Given the description of an element on the screen output the (x, y) to click on. 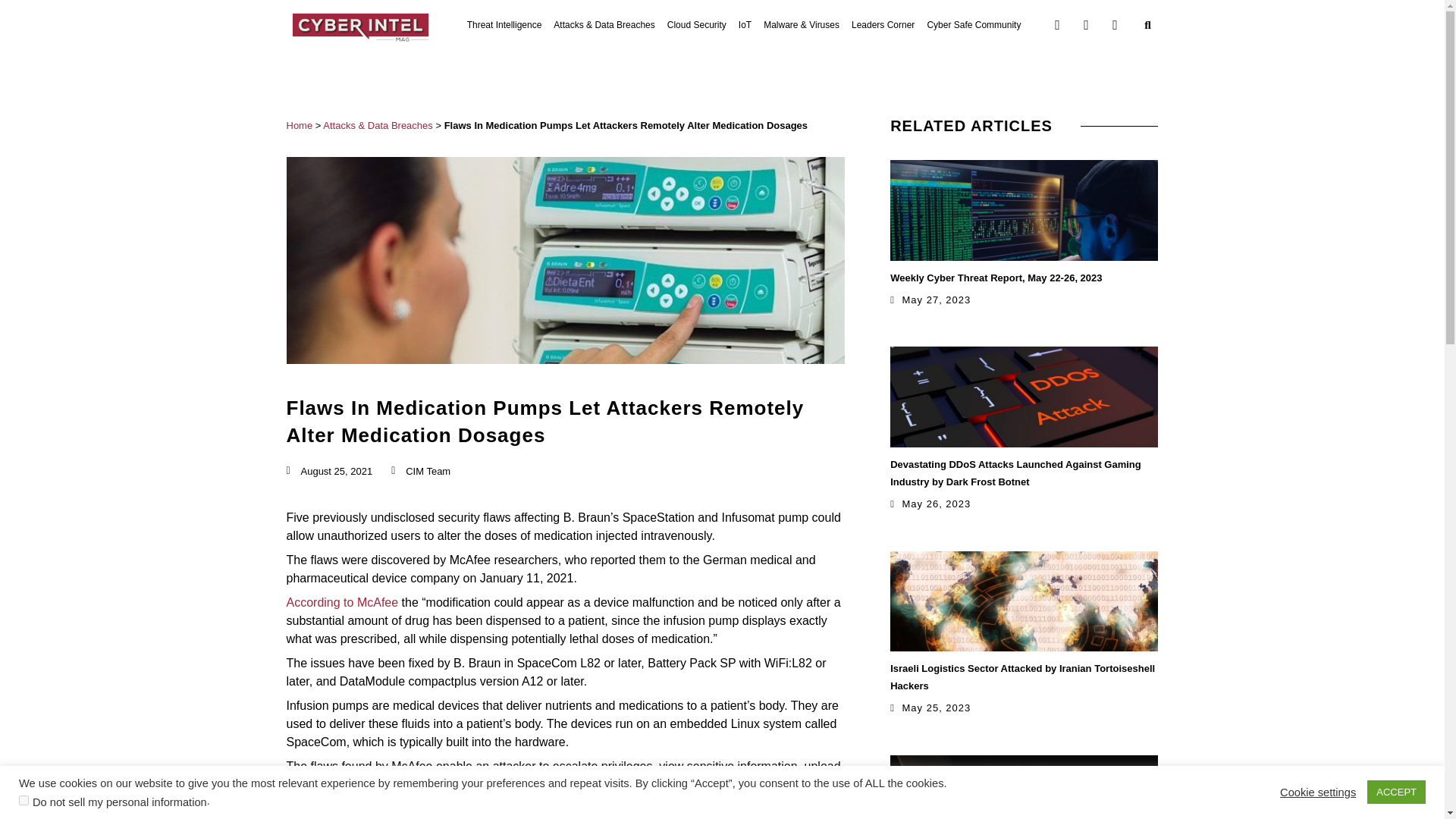
Threat Intelligence (504, 24)
Home (299, 125)
Cyber Safe Community (973, 24)
Weekly Cyber Threat Report, May 22-26, 2023 (995, 276)
on (23, 800)
According to McAfee (342, 602)
Leaders Corner (882, 24)
CIM Team (420, 471)
Cloud Security (696, 24)
